Given the description of an element on the screen output the (x, y) to click on. 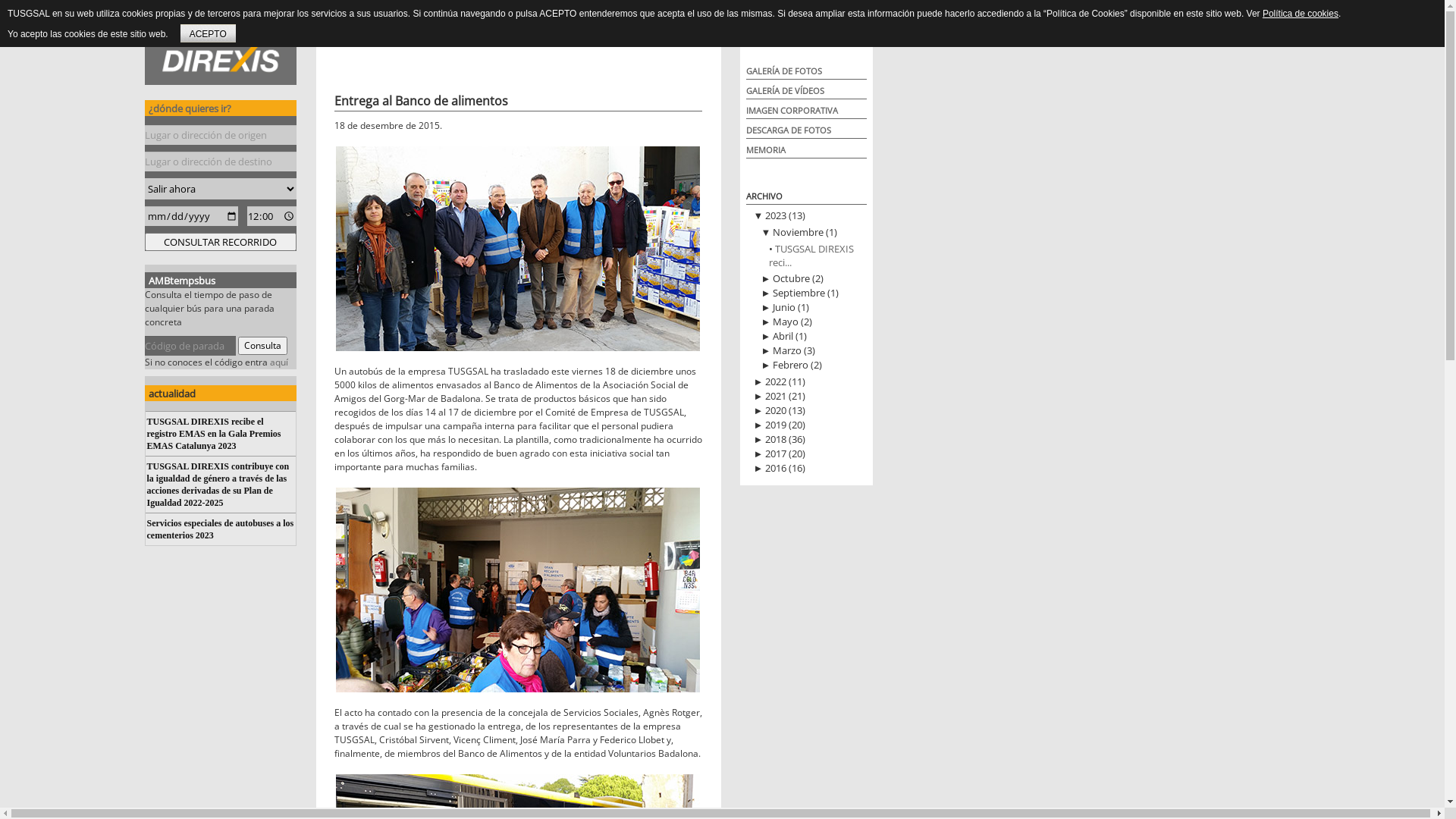
DESCARGA DE FOTOS Element type: text (788, 129)
Consulta Element type: text (262, 345)
IMAGEN CORPORATIVA Element type: text (791, 110)
contacta Element type: text (522, 35)
CAT Element type: text (855, 35)
MEMORIA Element type: text (765, 149)
CONSULTAR RECORRIDO Element type: text (219, 241)
ACEPTO Element type: text (207, 33)
Servicios especiales de autobuses a los cementerios 2023 Element type: text (220, 529)
TUSGSAL DIREXIS reci... Element type: text (810, 255)
